Given the description of an element on the screen output the (x, y) to click on. 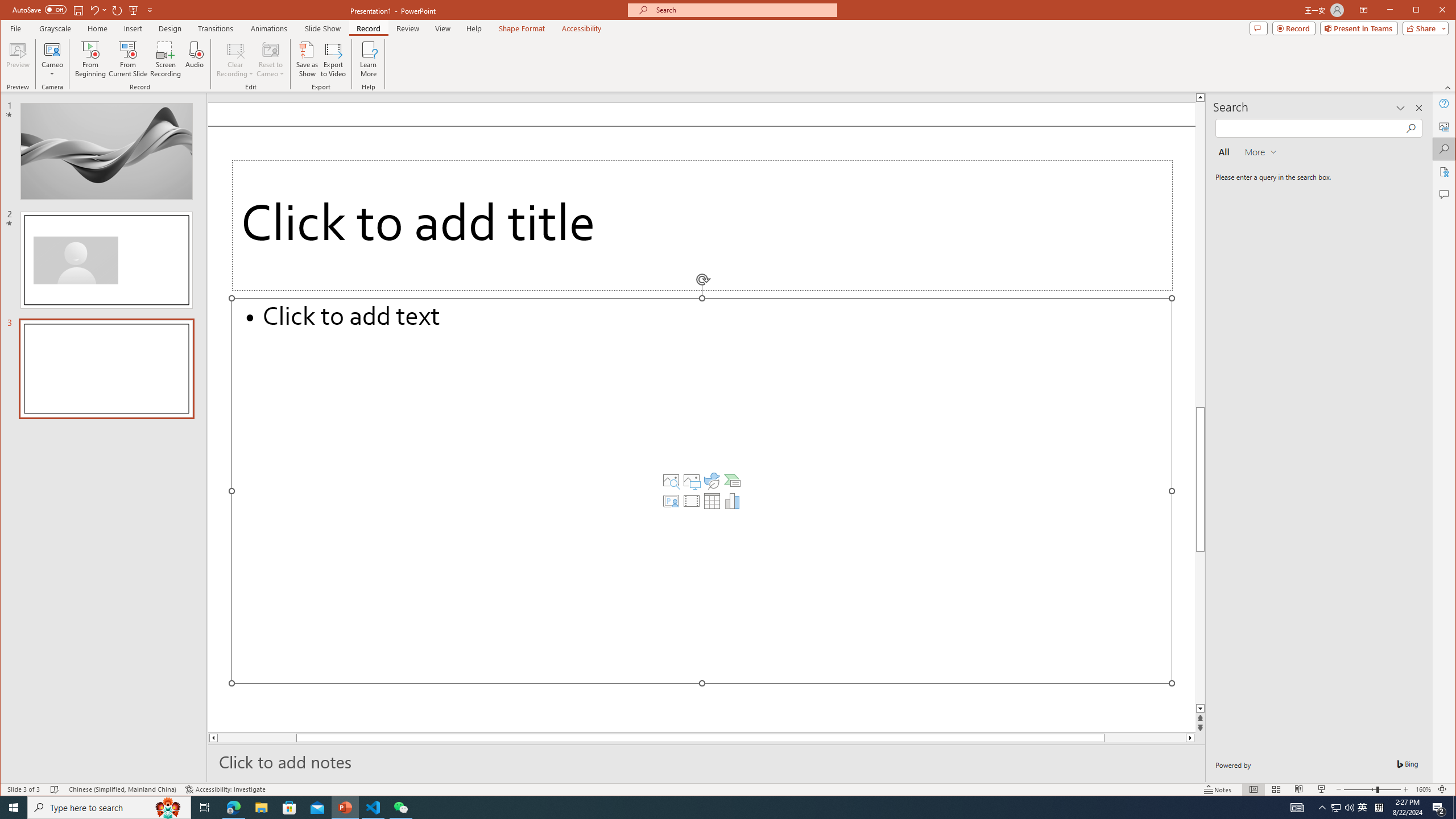
Maximize (1432, 11)
Page down (1162, 737)
Comments (1444, 194)
Insert Video (691, 501)
Transitions (215, 28)
Q2790: 100% (1349, 807)
Insert Table (711, 501)
Task Pane Options (1400, 107)
Type here to search (108, 807)
Insert Chart (732, 501)
Visual Studio Code - 1 running window (373, 807)
Line up (1200, 96)
Title TextBox (701, 225)
